Given the description of an element on the screen output the (x, y) to click on. 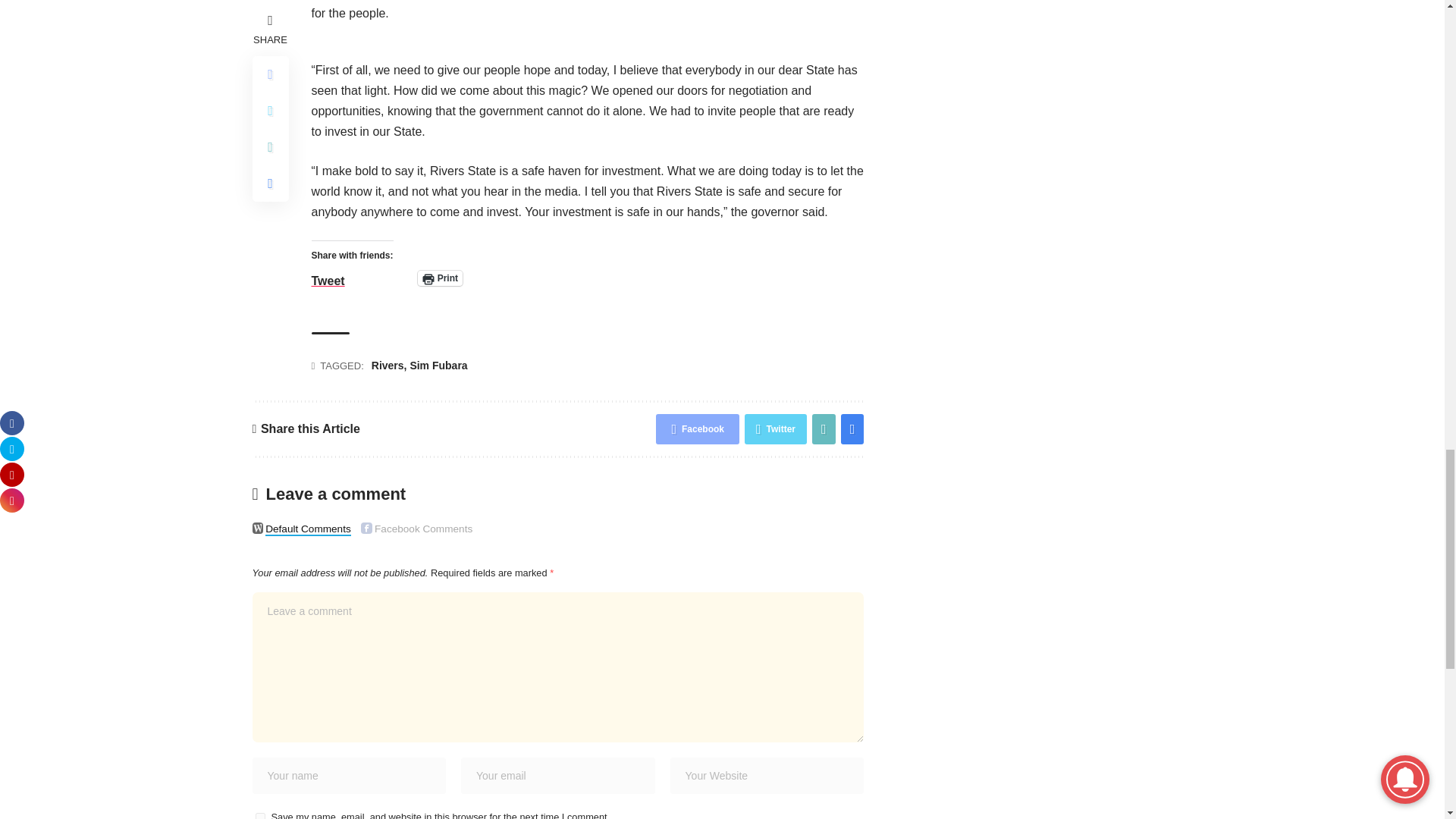
Facebook Comments (366, 527)
yes (259, 816)
Click to print (440, 278)
Default Comments (257, 527)
